Given the description of an element on the screen output the (x, y) to click on. 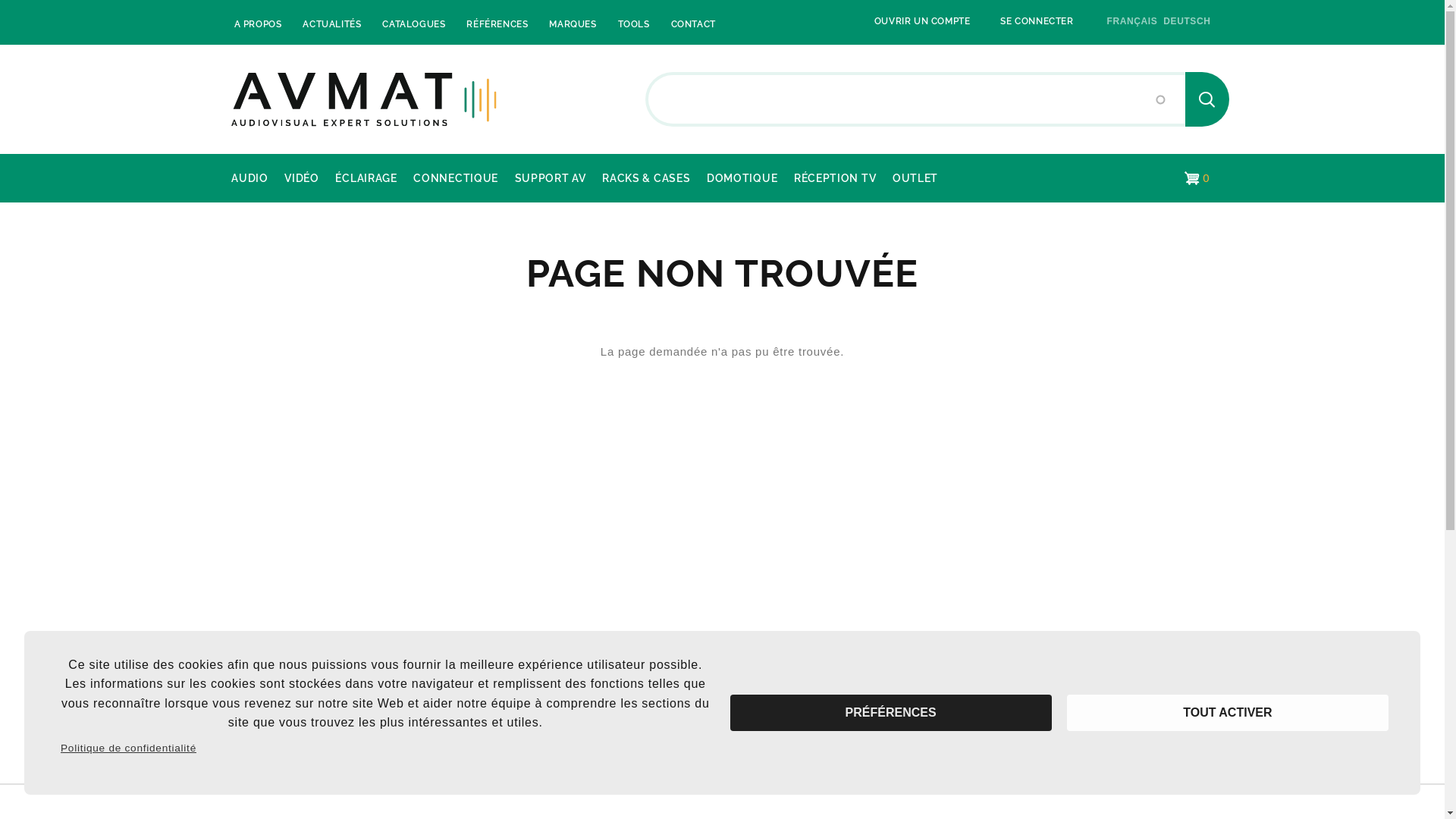
0 Element type: text (1196, 178)
SE CONNECTER Element type: text (1036, 20)
CONNECTIQUE Element type: text (455, 178)
TOOLS Element type: text (633, 24)
APPLY Element type: text (1206, 99)
SUPPORT AV Element type: text (550, 178)
DOMOTIQUE Element type: text (742, 178)
AUDIO Element type: text (249, 178)
A PROPOS Element type: text (257, 24)
OUVRIR UN COMPTE Element type: text (922, 20)
TOUT ACTIVER Element type: text (1227, 712)
MARQUES Element type: text (572, 24)
CONTACT Element type: text (693, 24)
OUTLET Element type: text (914, 178)
RACKS & CASES Element type: text (645, 178)
CATALOGUES Element type: text (413, 24)
DEUTSCH Element type: text (1186, 20)
